Given the description of an element on the screen output the (x, y) to click on. 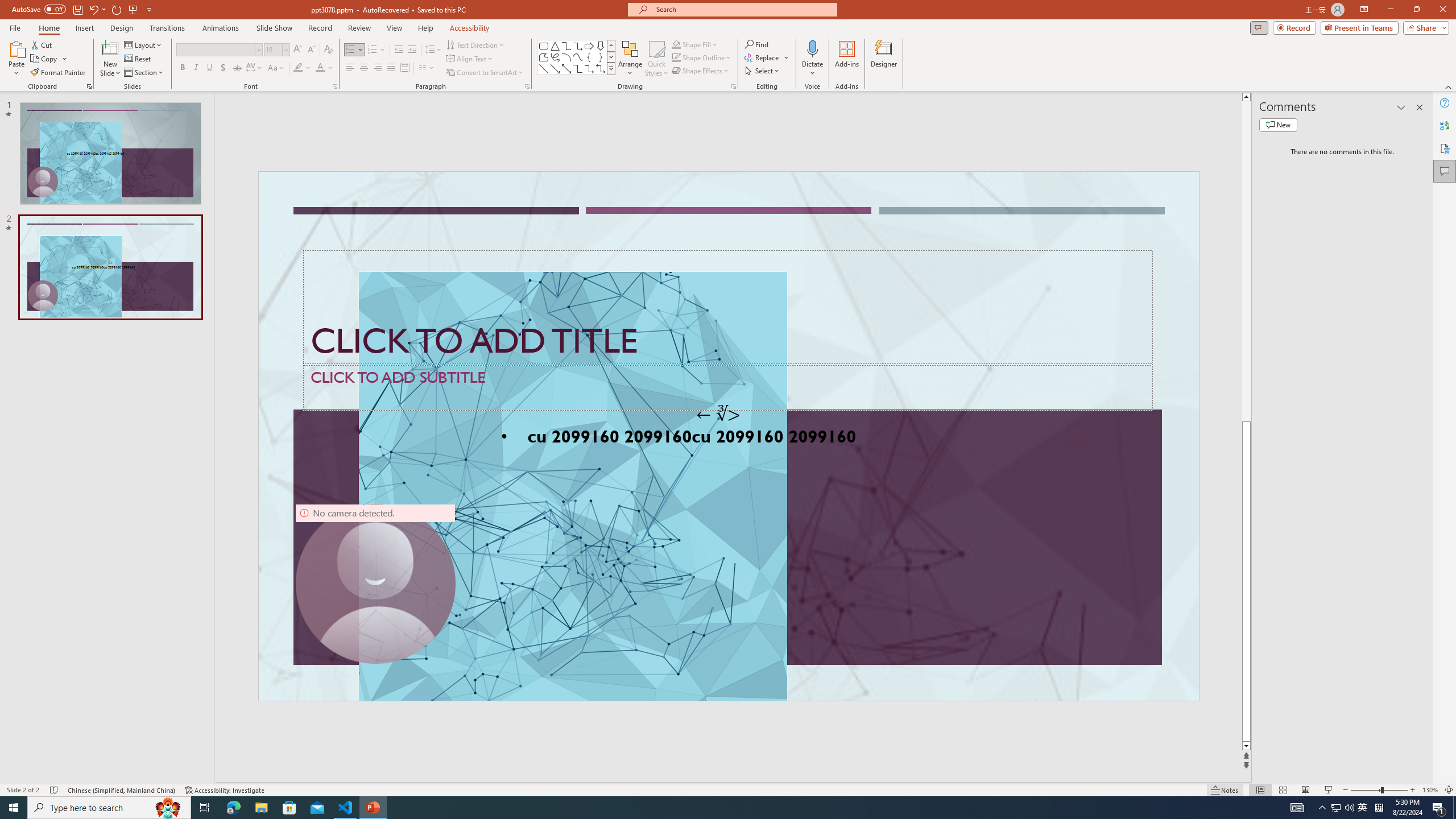
Line Arrow: Double (566, 68)
Shape Outline Green, Accent 1 (675, 56)
